Given the description of an element on the screen output the (x, y) to click on. 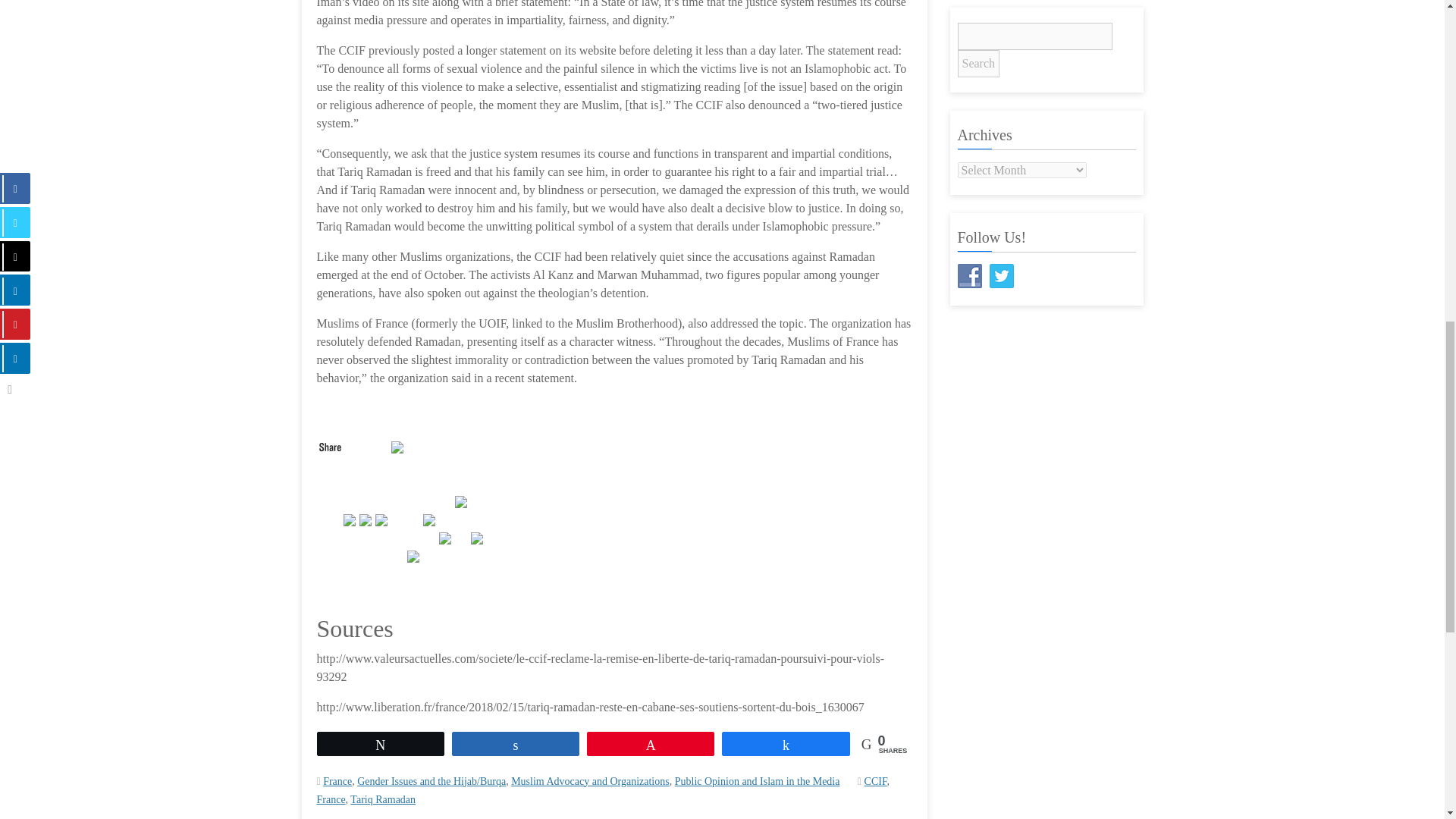
Digg (414, 554)
Twitter (350, 518)
Delicious (462, 499)
Reddit (431, 518)
Facebook (367, 518)
Bebo (446, 536)
Linkedin (382, 518)
Print (478, 536)
StumbleUpon (399, 445)
